Given the description of an element on the screen output the (x, y) to click on. 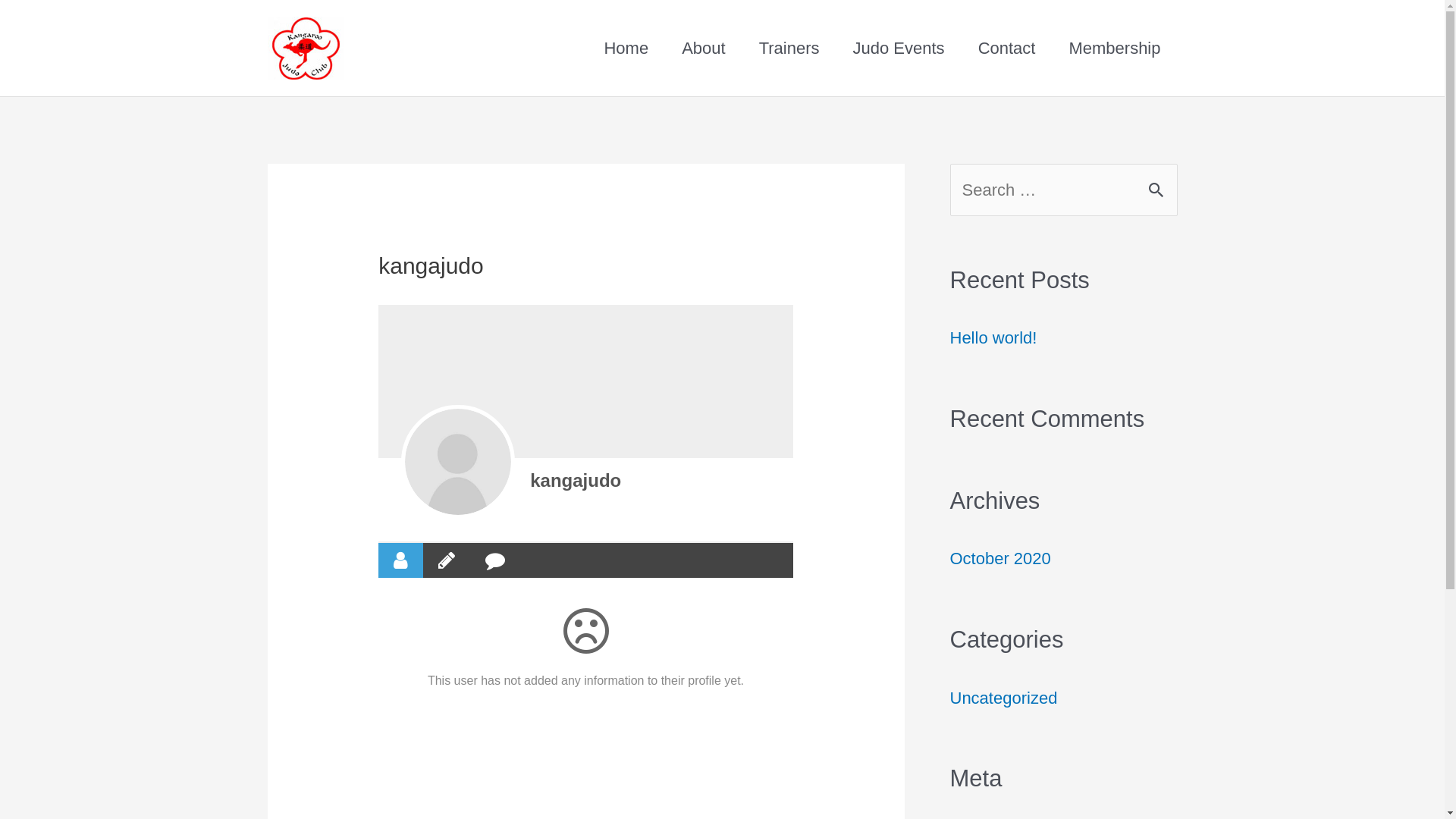
Hello world! Element type: text (992, 337)
kangajudo Element type: text (575, 480)
Trainers Element type: text (789, 48)
Uncategorized Element type: text (1003, 697)
About Element type: text (703, 48)
Home Element type: text (625, 48)
Contact Element type: text (1006, 48)
kangajudo Element type: hover (457, 461)
Search Element type: text (1160, 181)
Membership Element type: text (1113, 48)
Judo Events Element type: text (898, 48)
October 2020 Element type: text (999, 558)
